Given the description of an element on the screen output the (x, y) to click on. 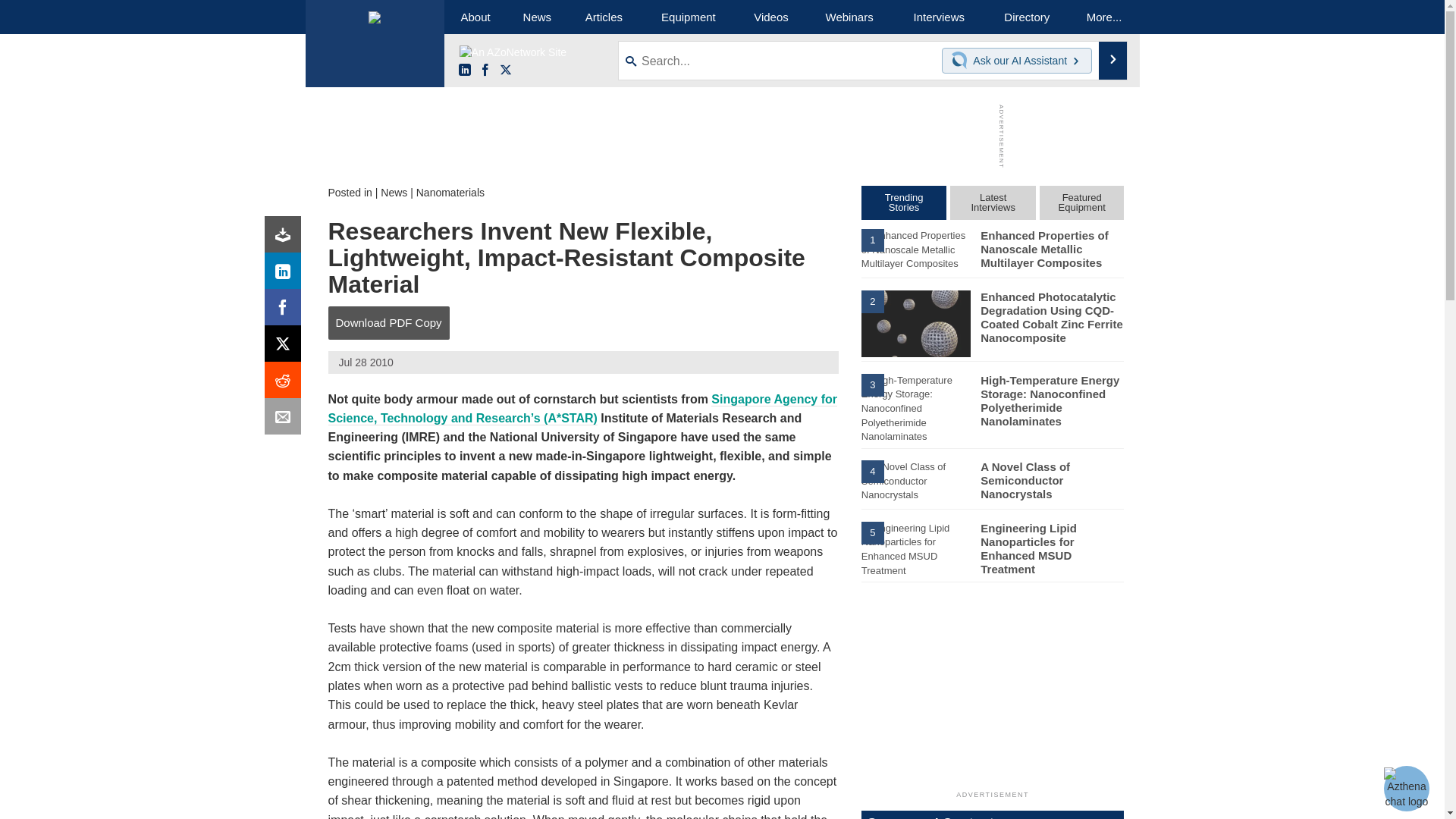
Facebook (485, 70)
X (285, 348)
Chat with our AI Assistant (962, 60)
Download PDF copy (285, 238)
LinkedIn (285, 275)
Articles (603, 17)
News (393, 192)
X (505, 70)
Facebook (285, 311)
